Given the description of an element on the screen output the (x, y) to click on. 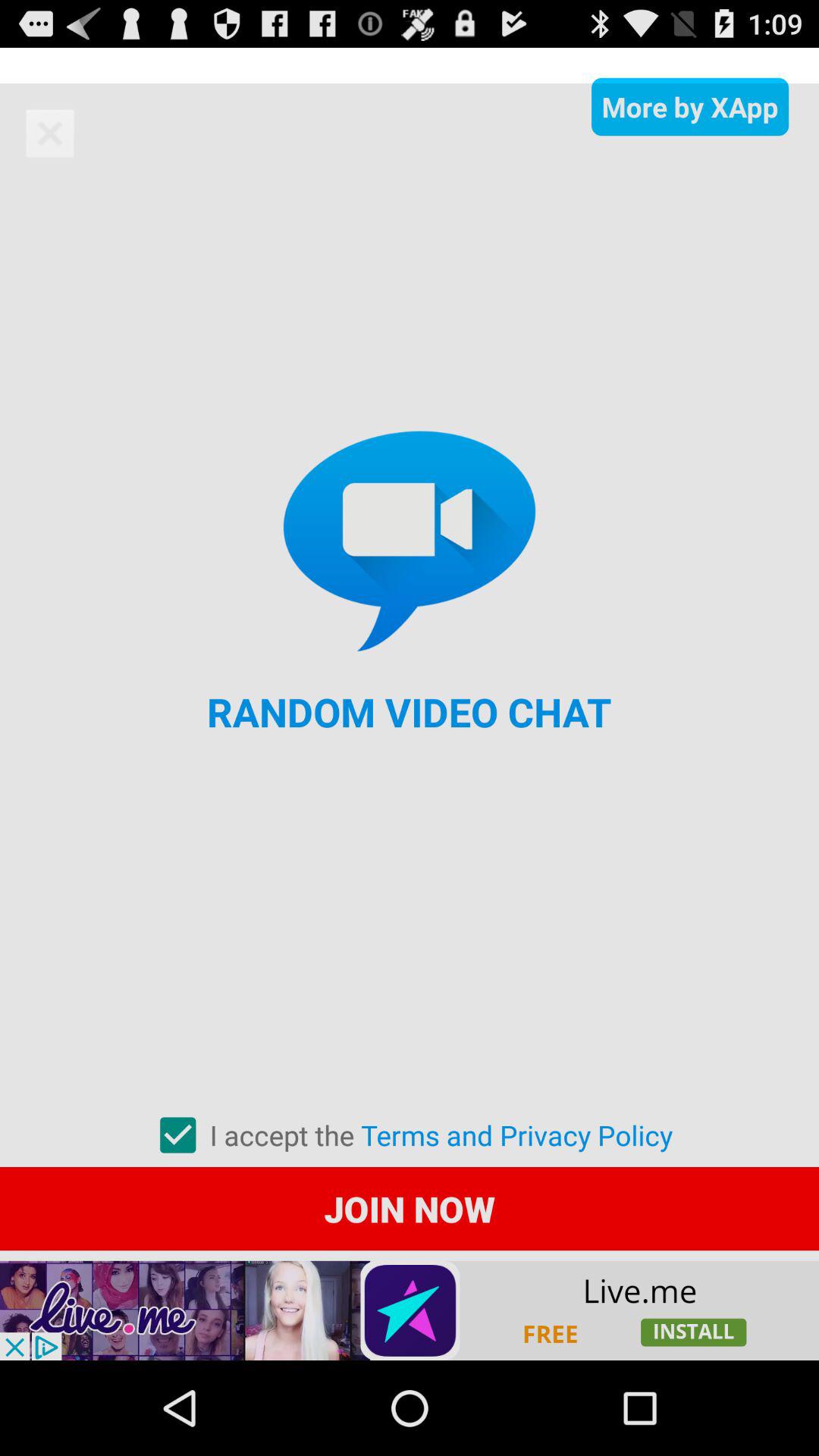
click button (409, 1310)
